Given the description of an element on the screen output the (x, y) to click on. 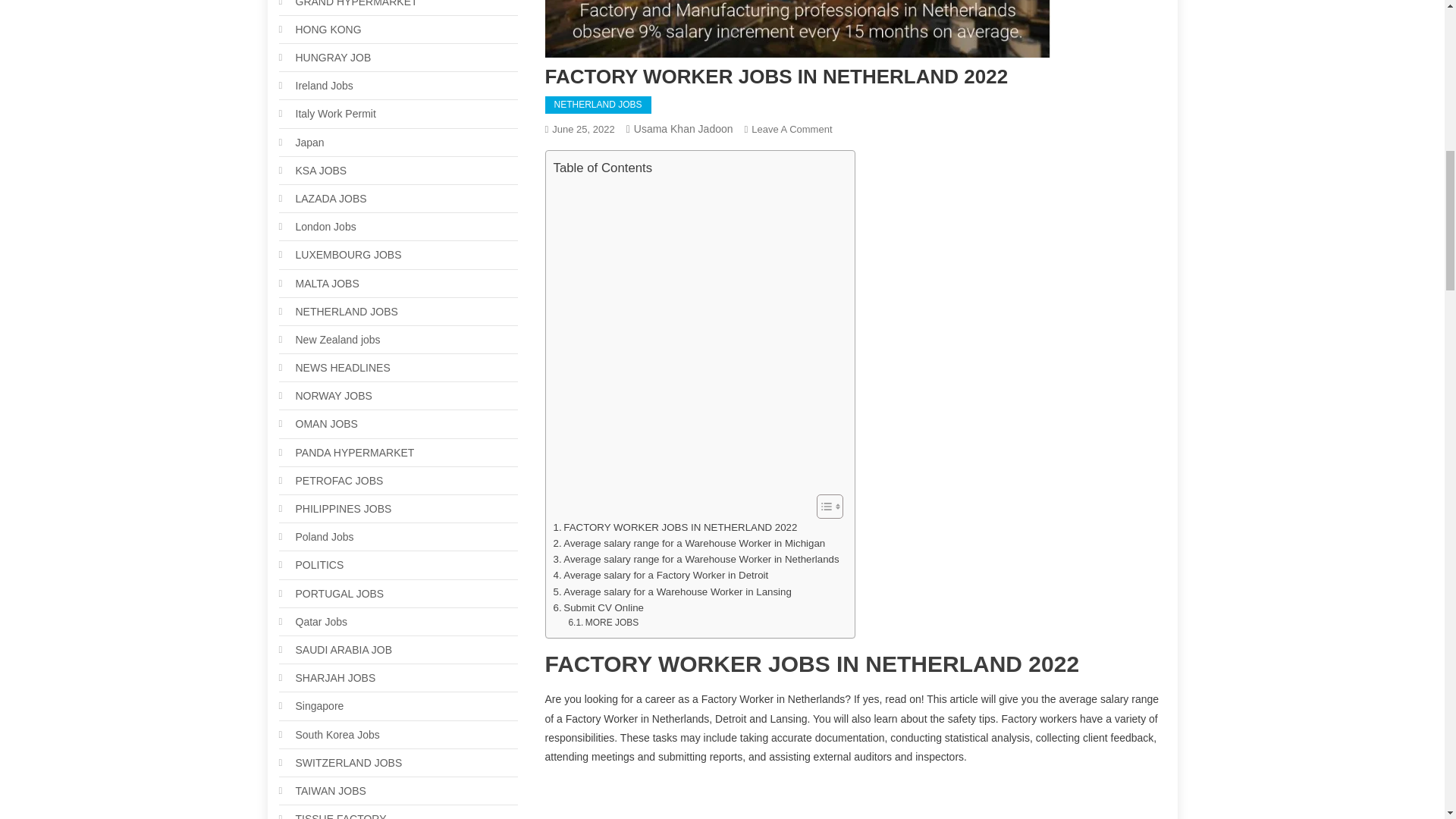
June 25, 2022 (582, 129)
Average salary range for a Warehouse Worker in Michigan (689, 543)
MORE JOBS (603, 622)
FACTORY WORKER JOBS IN NETHERLAND 2022 (675, 527)
Average salary for a Factory Worker in Detroit (660, 575)
Average salary for a Warehouse Worker in Lansing (672, 591)
Submit CV Online (598, 607)
NETHERLAND JOBS (597, 105)
MORE JOBS (603, 622)
Usama Khan Jadoon (683, 128)
